Given the description of an element on the screen output the (x, y) to click on. 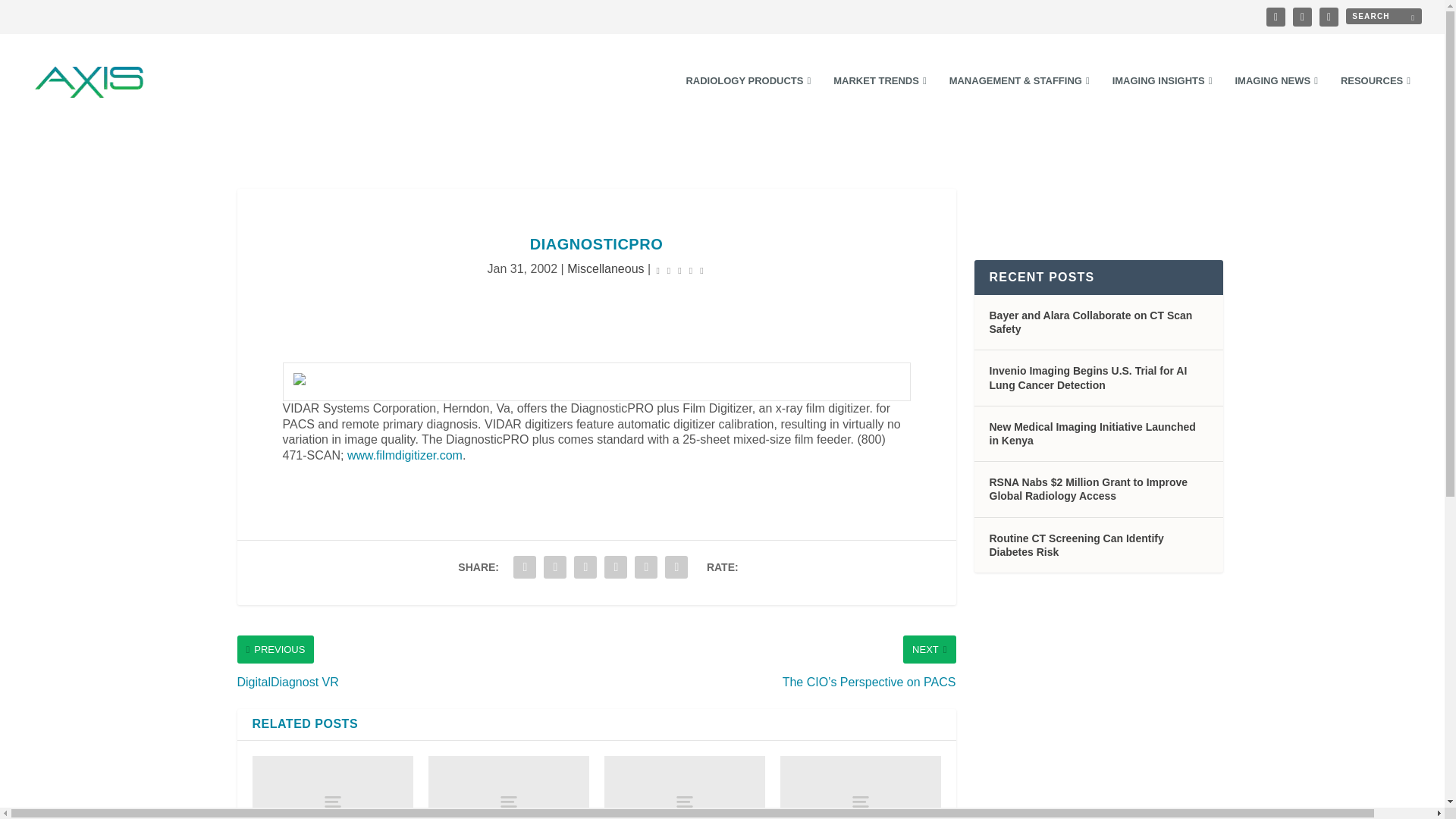
Miscellaneous (605, 268)
Report: Patients Want Accessible Digital Records (331, 787)
IMAGING NEWS (1275, 101)
Share "DiagnosticPRO" via Facebook (524, 567)
Share "DiagnosticPRO" via Email (645, 567)
Share "DiagnosticPRO" via Print (676, 567)
IMAGING INSIGHTS (1162, 101)
RESOURCES (1375, 101)
Share "DiagnosticPRO" via LinkedIn (584, 567)
MARKET TRENDS (879, 101)
